Given the description of an element on the screen output the (x, y) to click on. 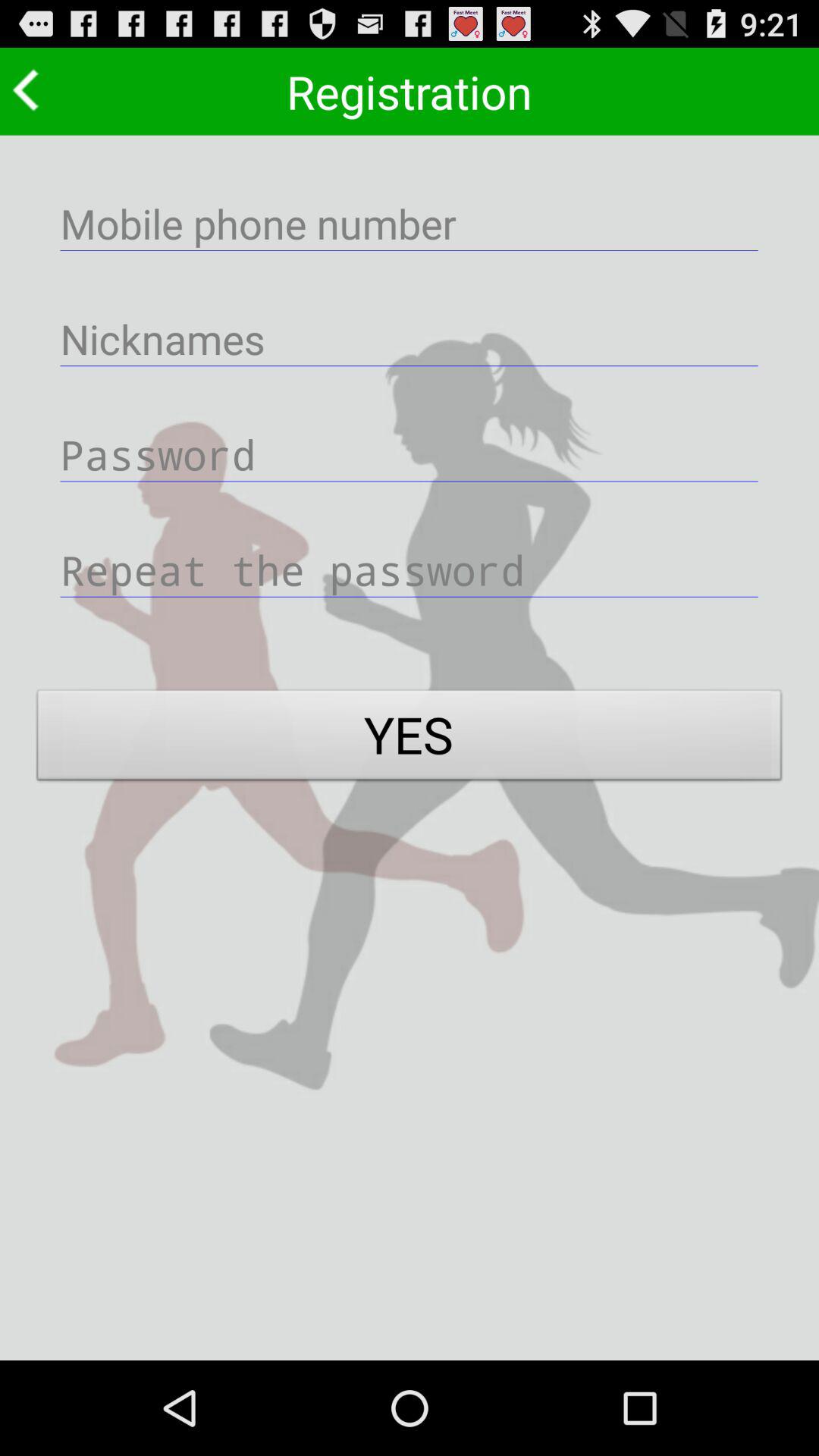
enter the password (409, 453)
